Given the description of an element on the screen output the (x, y) to click on. 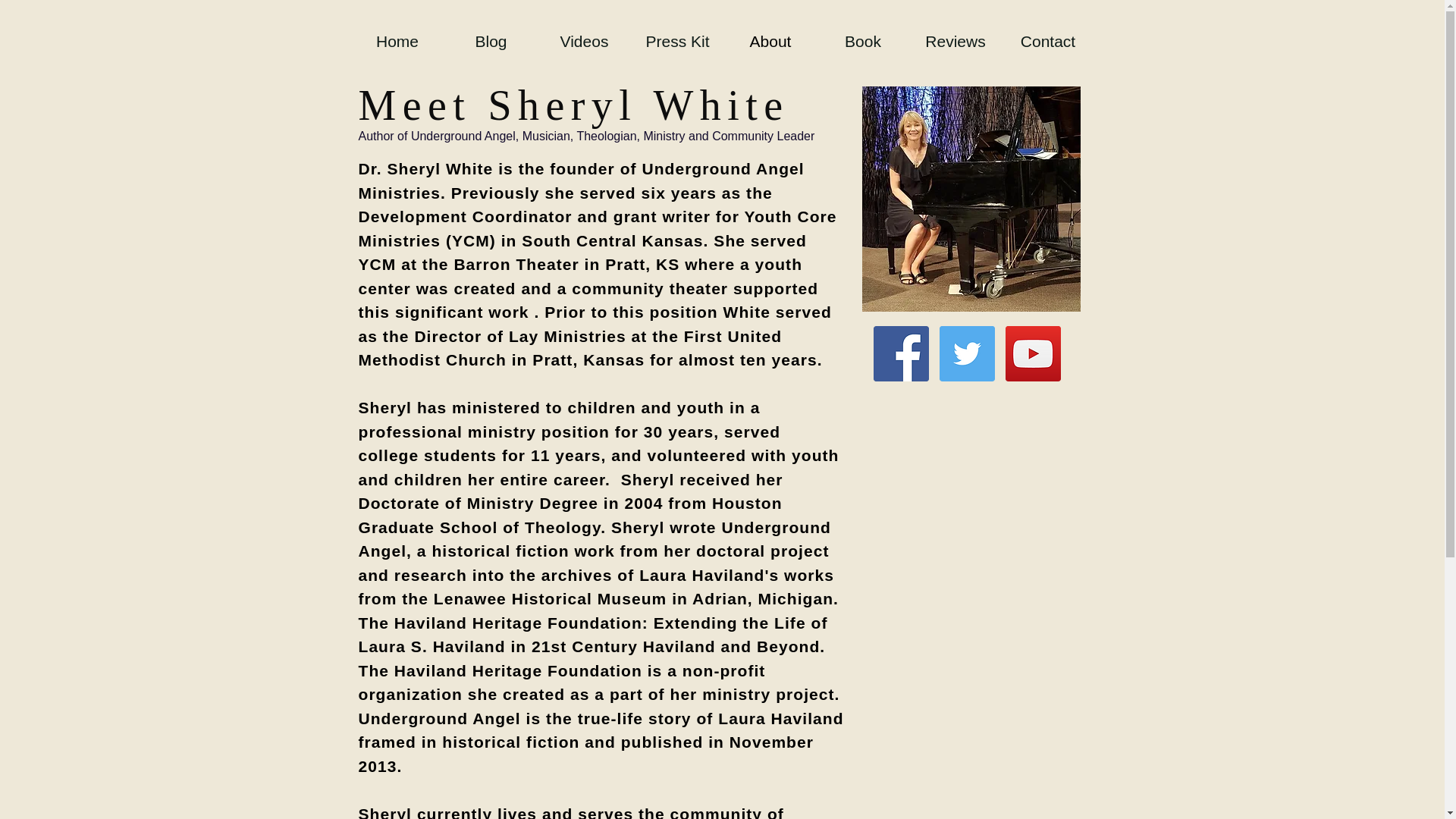
Videos (583, 41)
Reviews (954, 41)
Press Kit (676, 41)
Home (397, 41)
Contact (1047, 41)
Blog (490, 41)
About (769, 41)
Book (861, 41)
